Given the description of an element on the screen output the (x, y) to click on. 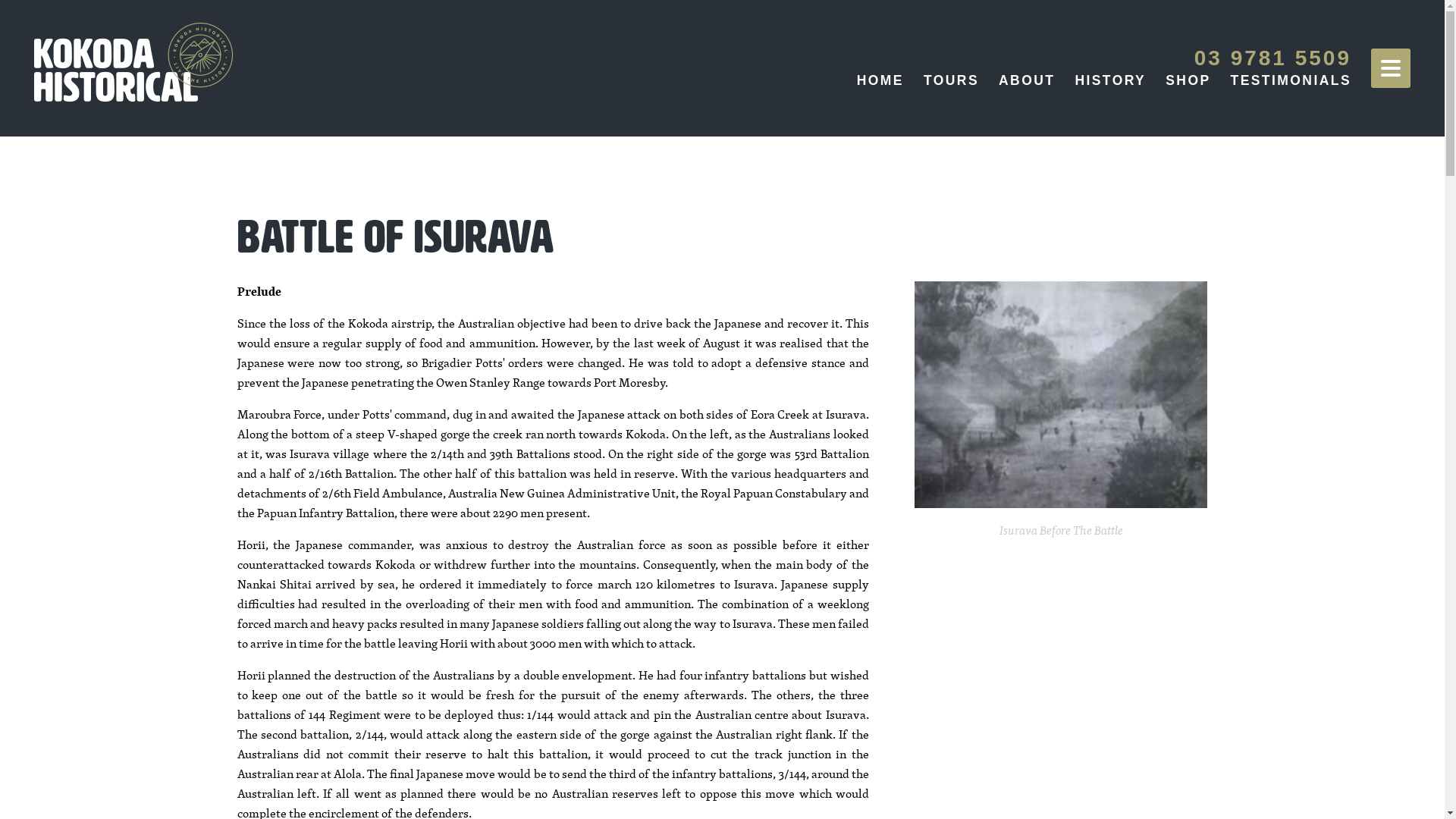
SHOP Element type: text (1187, 79)
TOURS Element type: text (951, 79)
03 9781 5509 Element type: text (1272, 57)
HISTORY Element type: text (1109, 79)
HOME Element type: text (879, 79)
Isurava Before The Battle Element type: hover (1061, 394)
ABOUT Element type: text (1026, 79)
Kokoda Historical (en-AU) Element type: hover (133, 61)
TESTIMONIALS Element type: text (1290, 79)
